Given the description of an element on the screen output the (x, y) to click on. 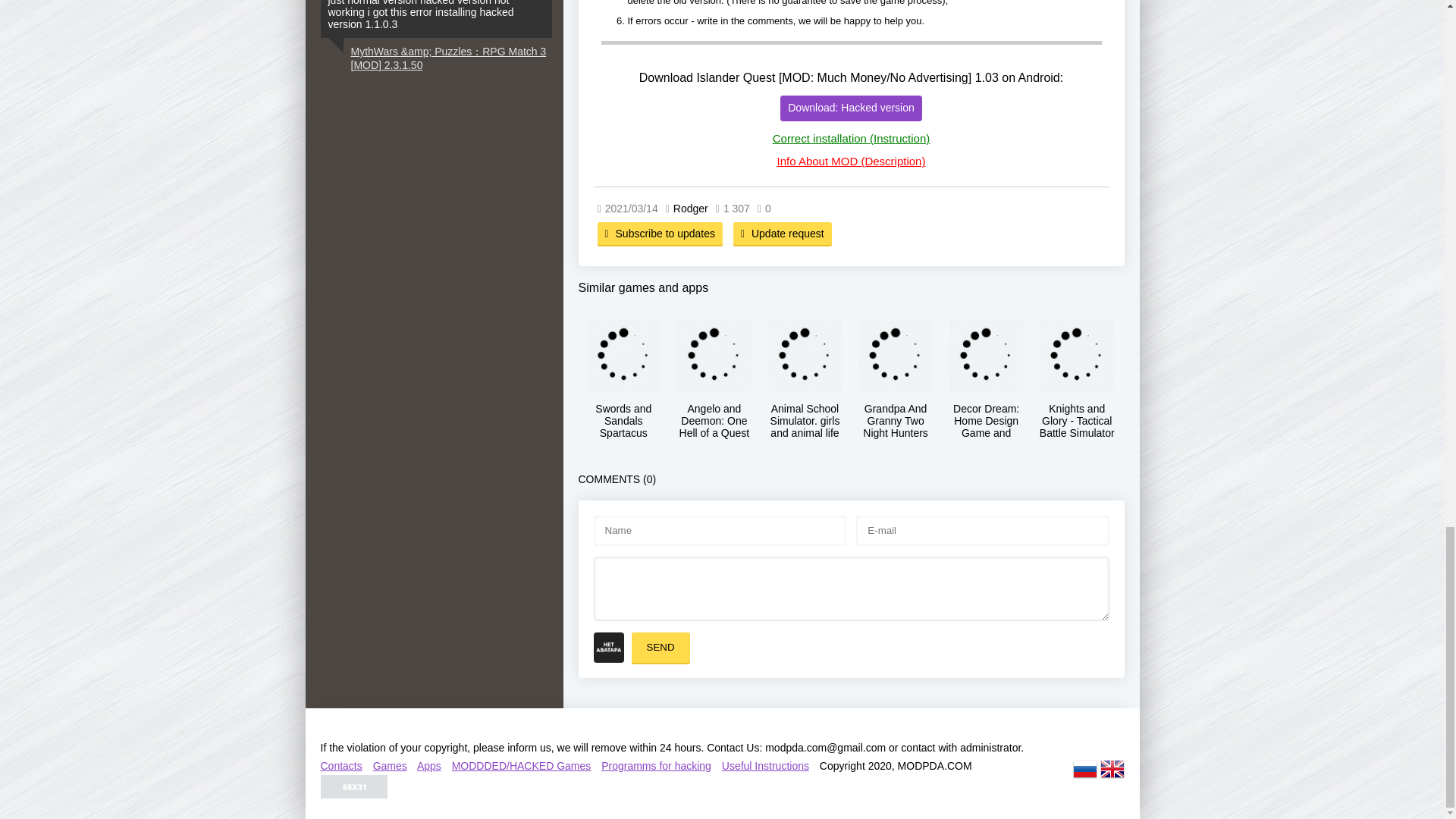
Download: Hacked version (850, 108)
SEND (659, 647)
Contacts (340, 766)
Rodger (689, 208)
